Given the description of an element on the screen output the (x, y) to click on. 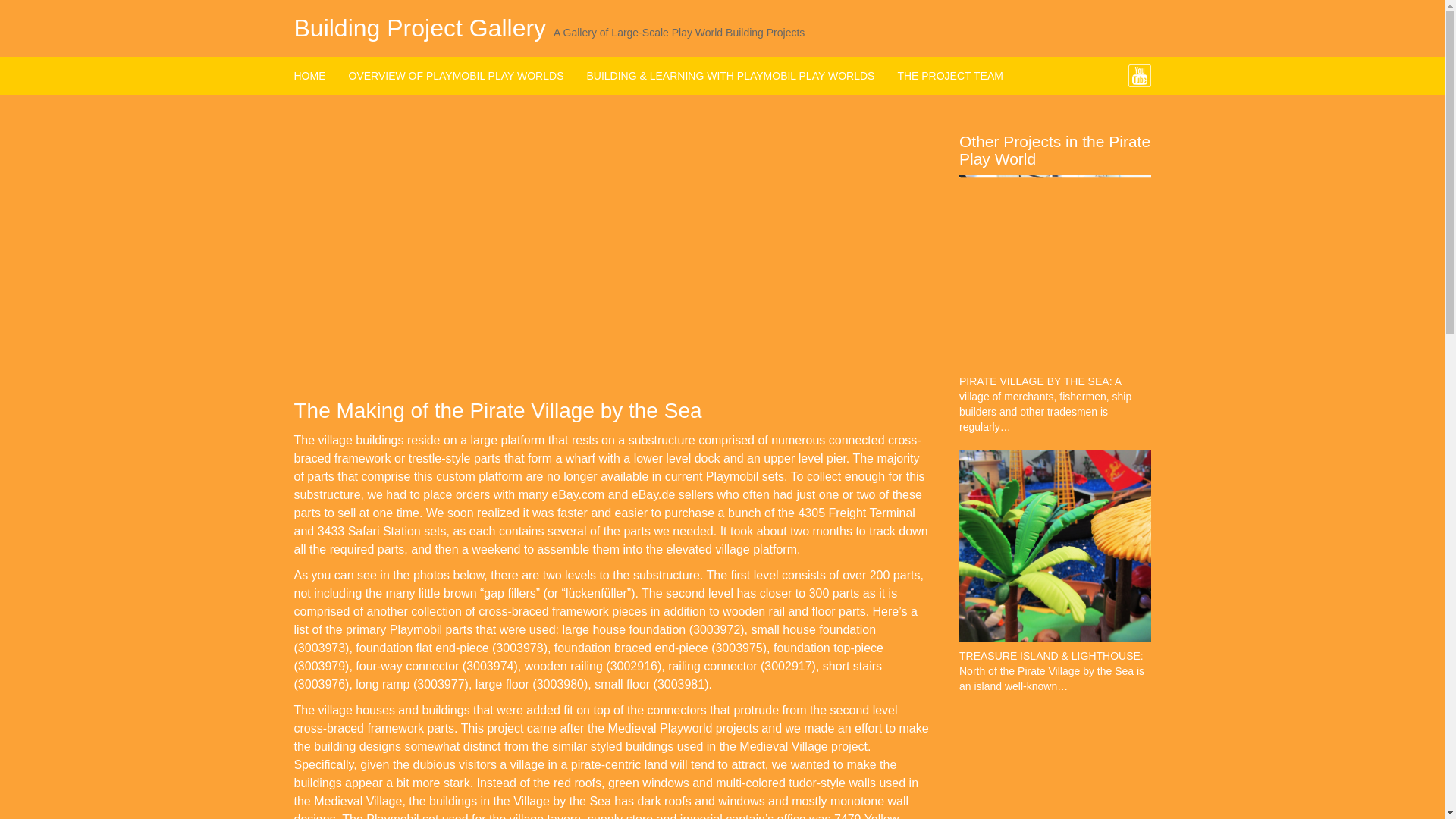
Building Project Gallery (420, 27)
Building Project Gallery (420, 27)
THE PROJECT TEAM (949, 75)
HOME (315, 75)
OVERVIEW OF PLAYMOBIL PLAY WORLDS (455, 75)
